Given the description of an element on the screen output the (x, y) to click on. 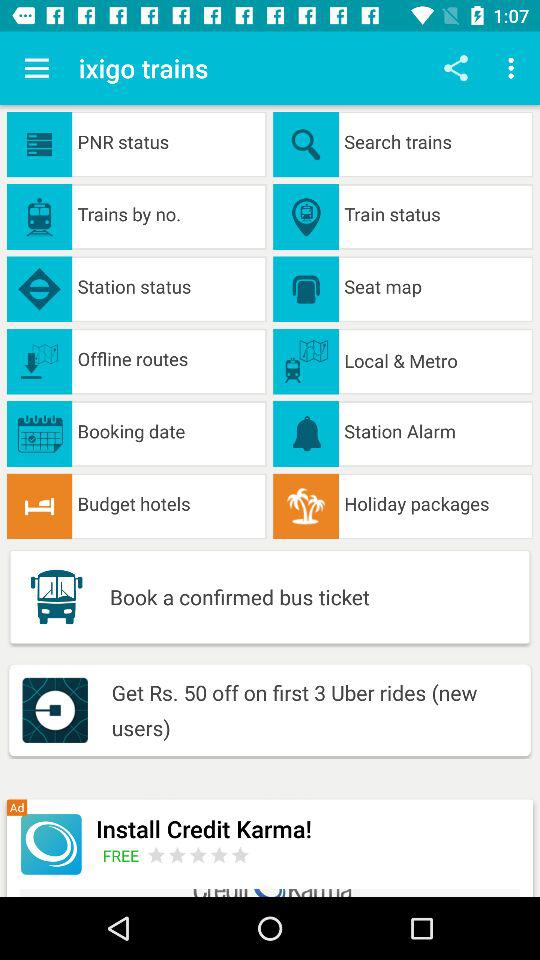
rate the app on the advertisement (197, 854)
